Given the description of an element on the screen output the (x, y) to click on. 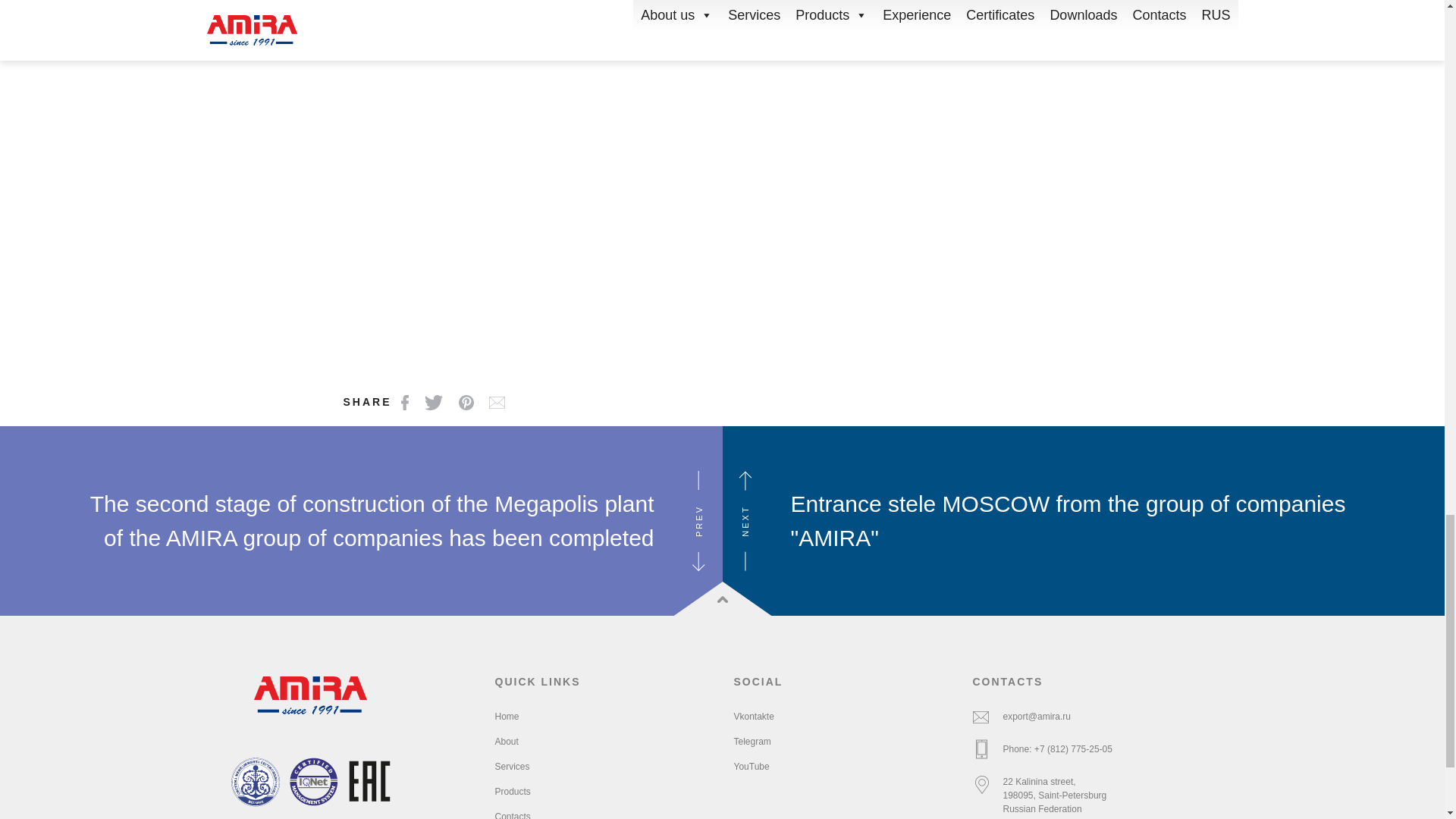
Home (506, 716)
Services (512, 766)
About (506, 741)
Amira Group (310, 695)
Products (512, 791)
